Given the description of an element on the screen output the (x, y) to click on. 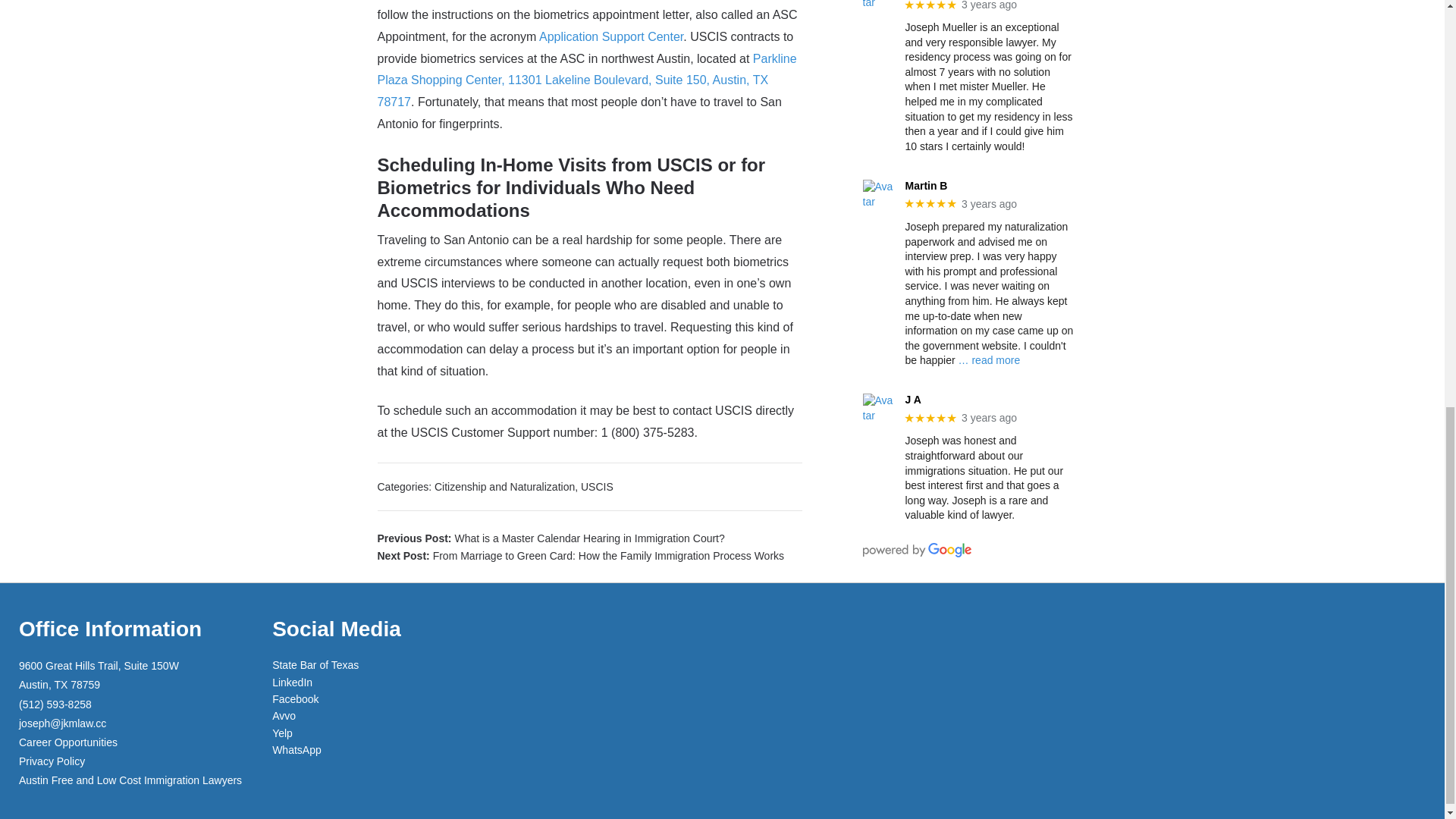
Application Support Center (610, 36)
USCIS (596, 486)
Citizenship and Naturalization (504, 486)
Powered by Google (917, 549)
